Given the description of an element on the screen output the (x, y) to click on. 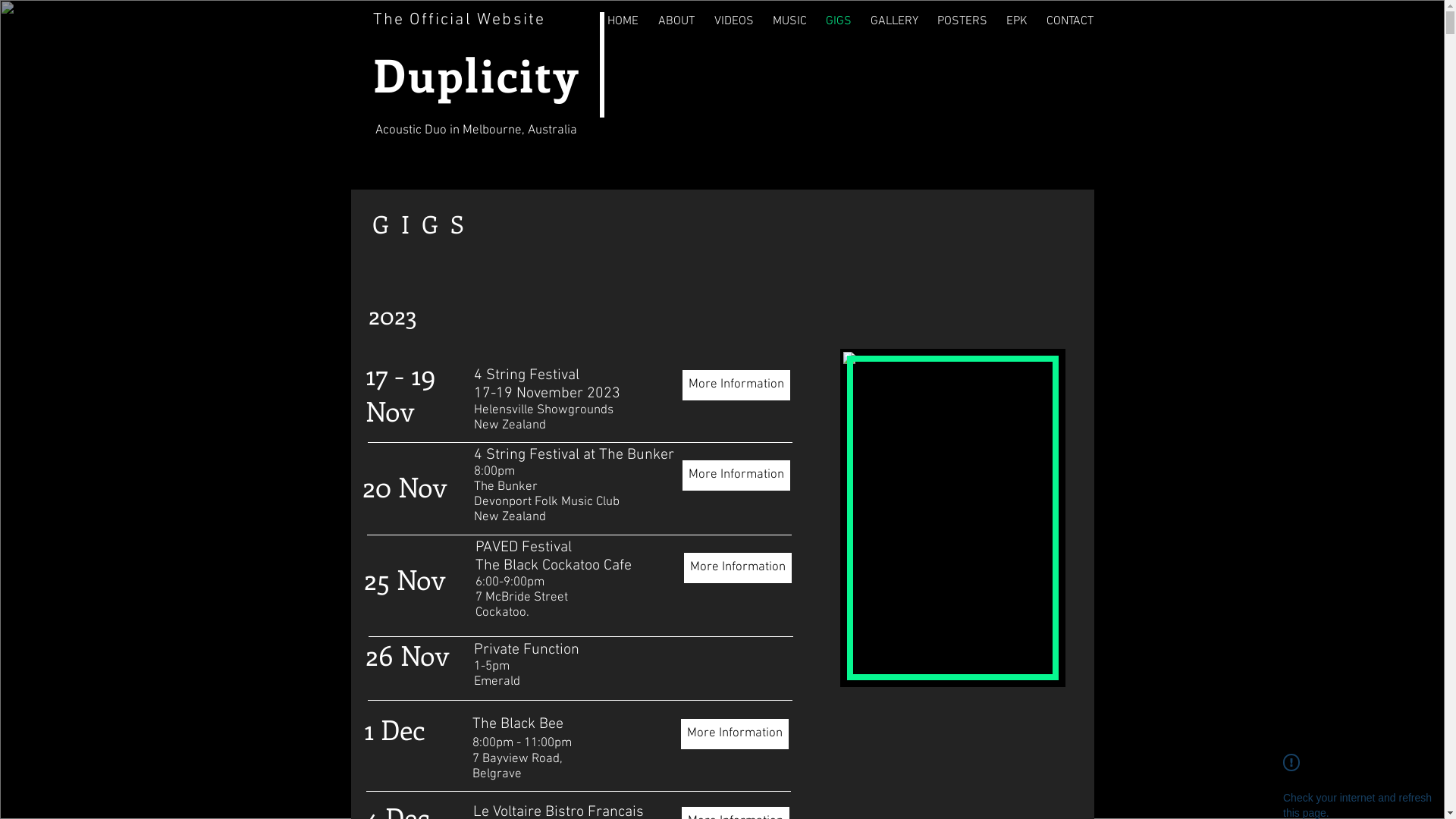
HOME Element type: text (622, 21)
MUSIC Element type: text (788, 21)
GIGS Element type: text (837, 21)
More Information Element type: text (734, 733)
Embedded Content Element type: hover (584, 229)
CONTACT Element type: text (1070, 21)
More Information Element type: text (736, 475)
VIDEOS Element type: text (734, 21)
ABOUT Element type: text (677, 21)
EPK Element type: text (1016, 21)
GALLERY Element type: text (894, 21)
More Information Element type: text (736, 385)
POSTERS Element type: text (962, 21)
Duplicity Element type: text (476, 73)
The Official Website Element type: text (459, 19)
More Information Element type: text (737, 567)
